Given the description of an element on the screen output the (x, y) to click on. 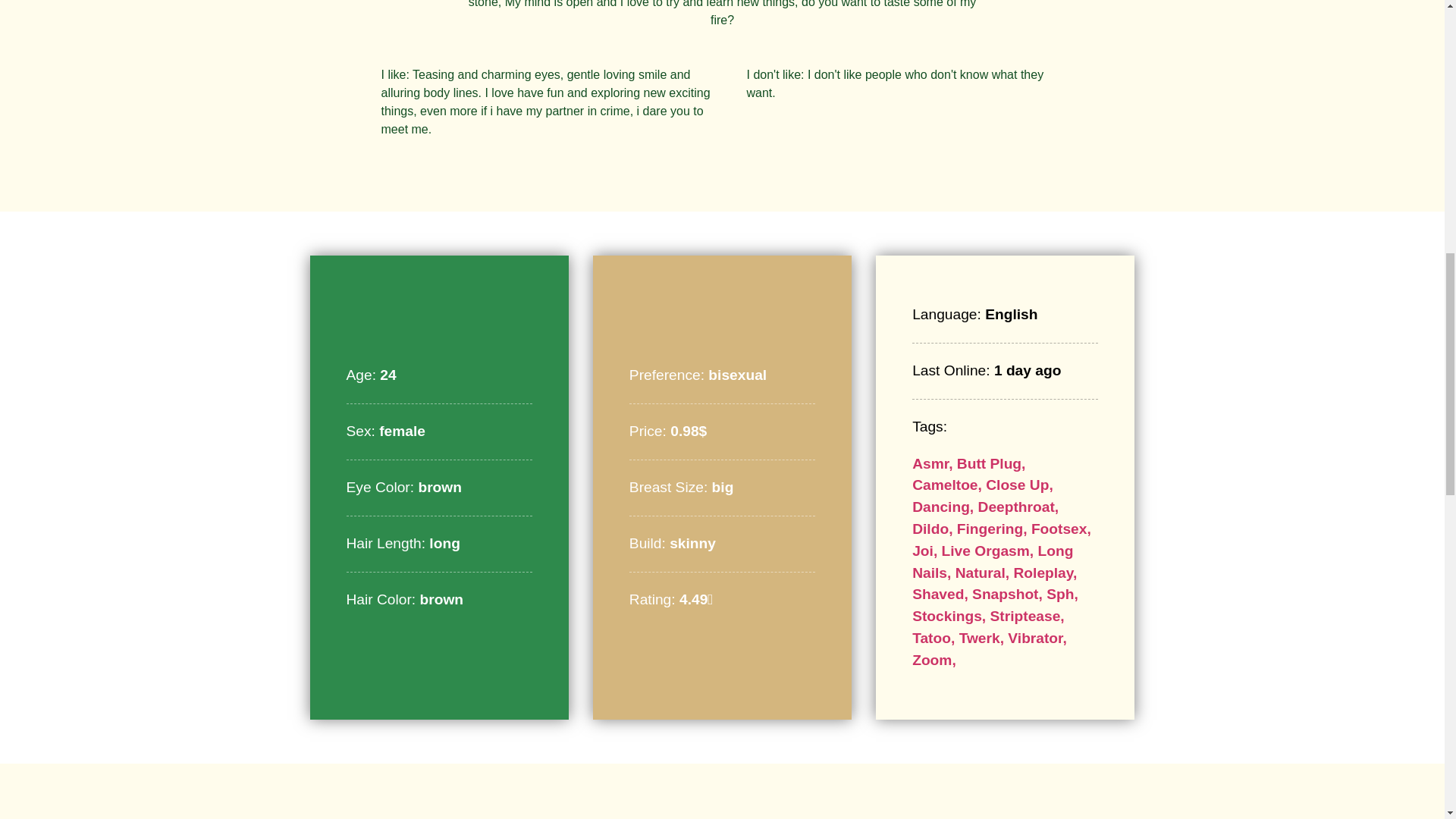
Butt Plug (991, 463)
Cameltoe (948, 484)
Asmr (934, 463)
